Given the description of an element on the screen output the (x, y) to click on. 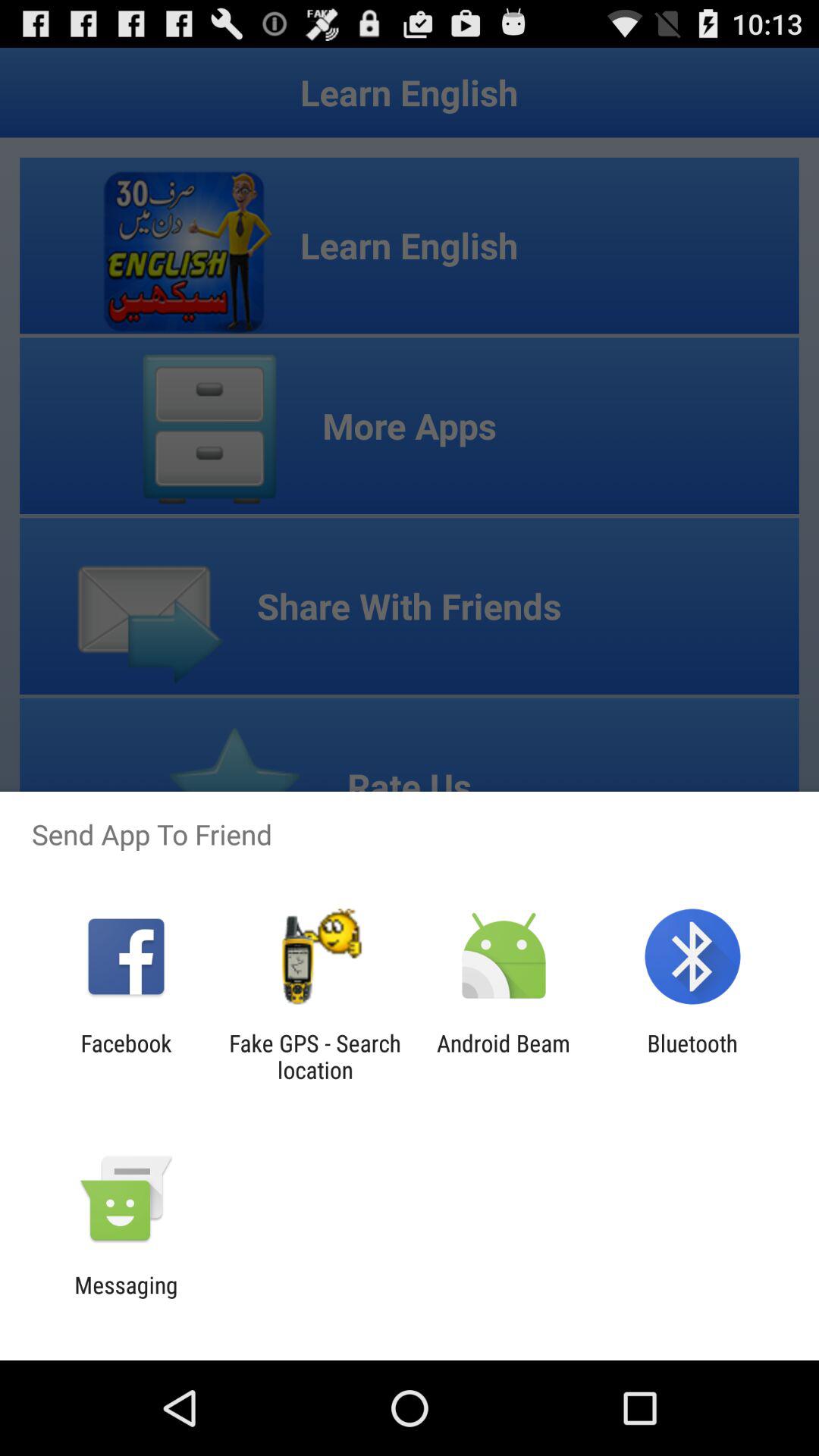
click the android beam icon (503, 1056)
